Given the description of an element on the screen output the (x, y) to click on. 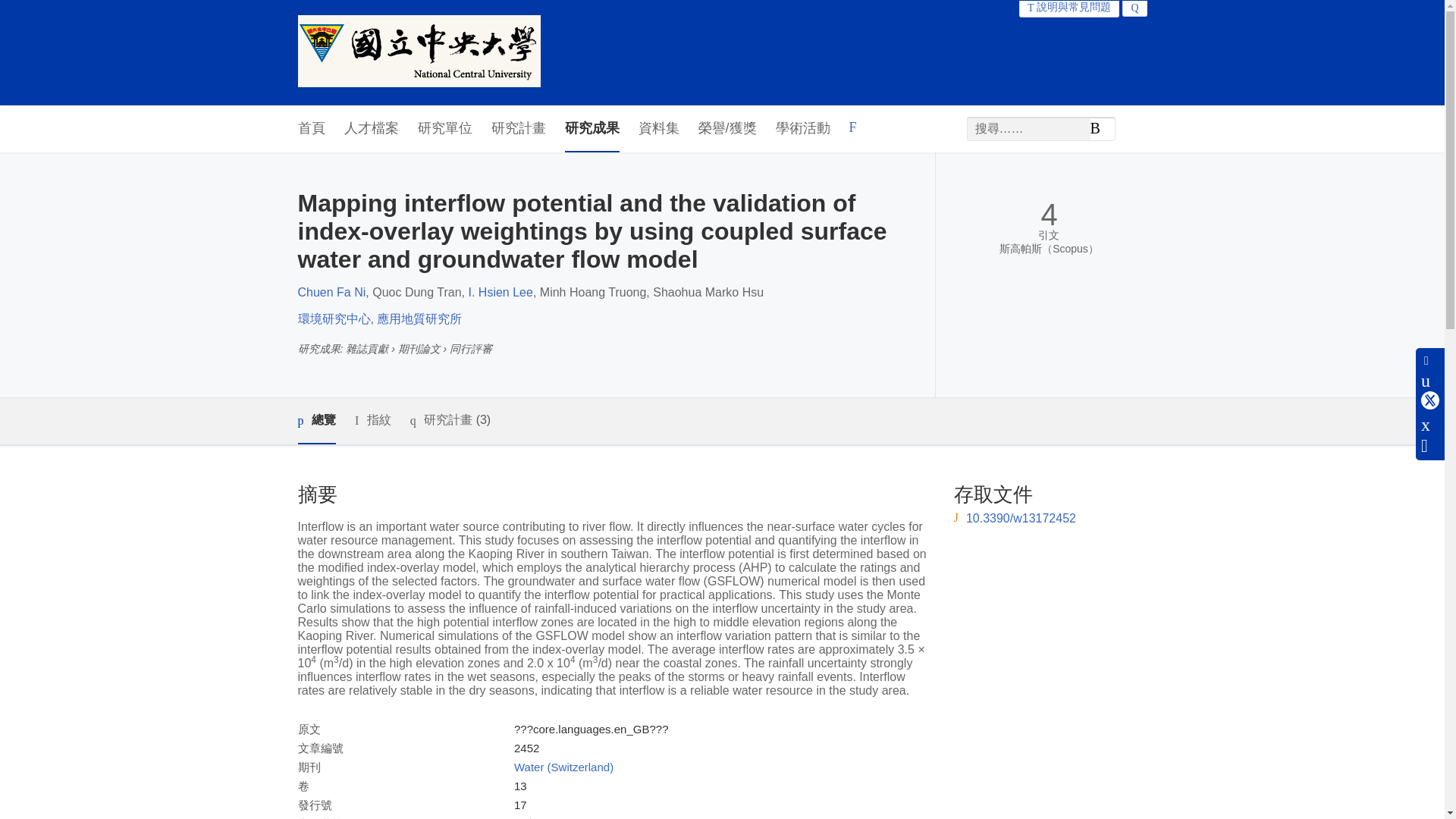
I. Hsien Lee (500, 291)
Chuen Fa Ni (331, 291)
